Given the description of an element on the screen output the (x, y) to click on. 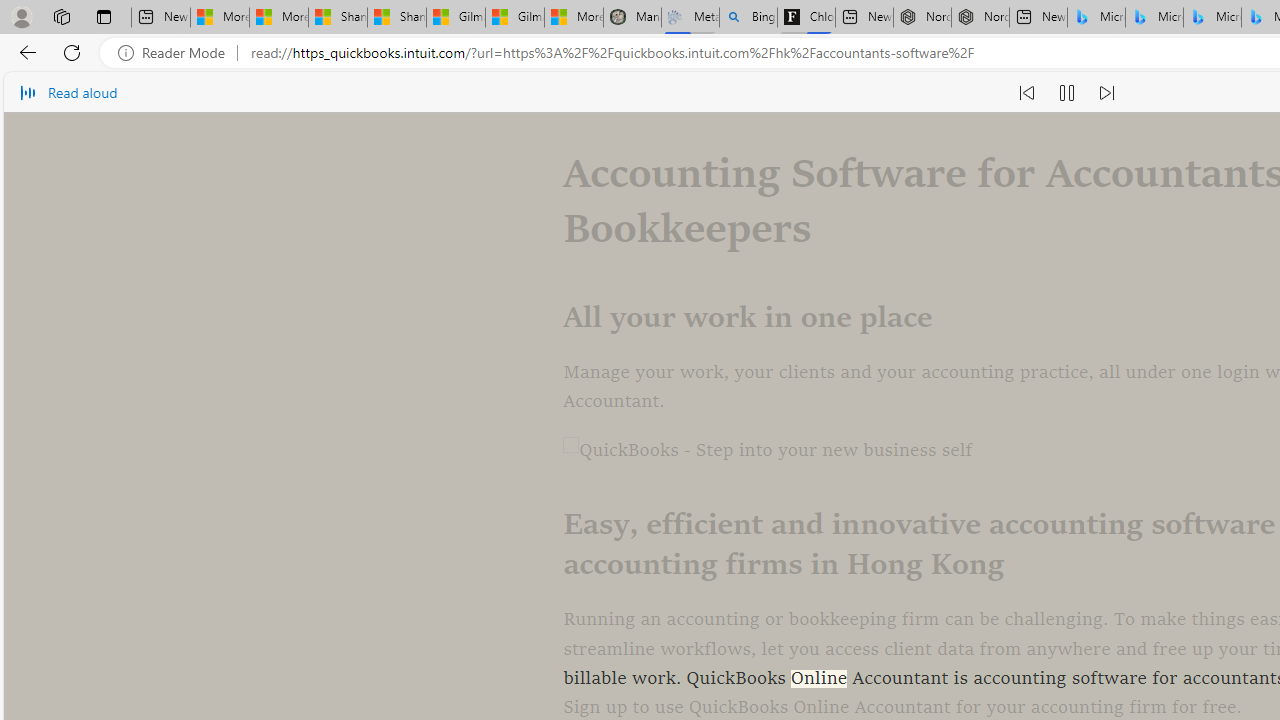
Chloe Sorvino (806, 17)
Reader Mode (177, 53)
Bing Real Estate - Home sales and rental listings (747, 17)
